Given the description of an element on the screen output the (x, y) to click on. 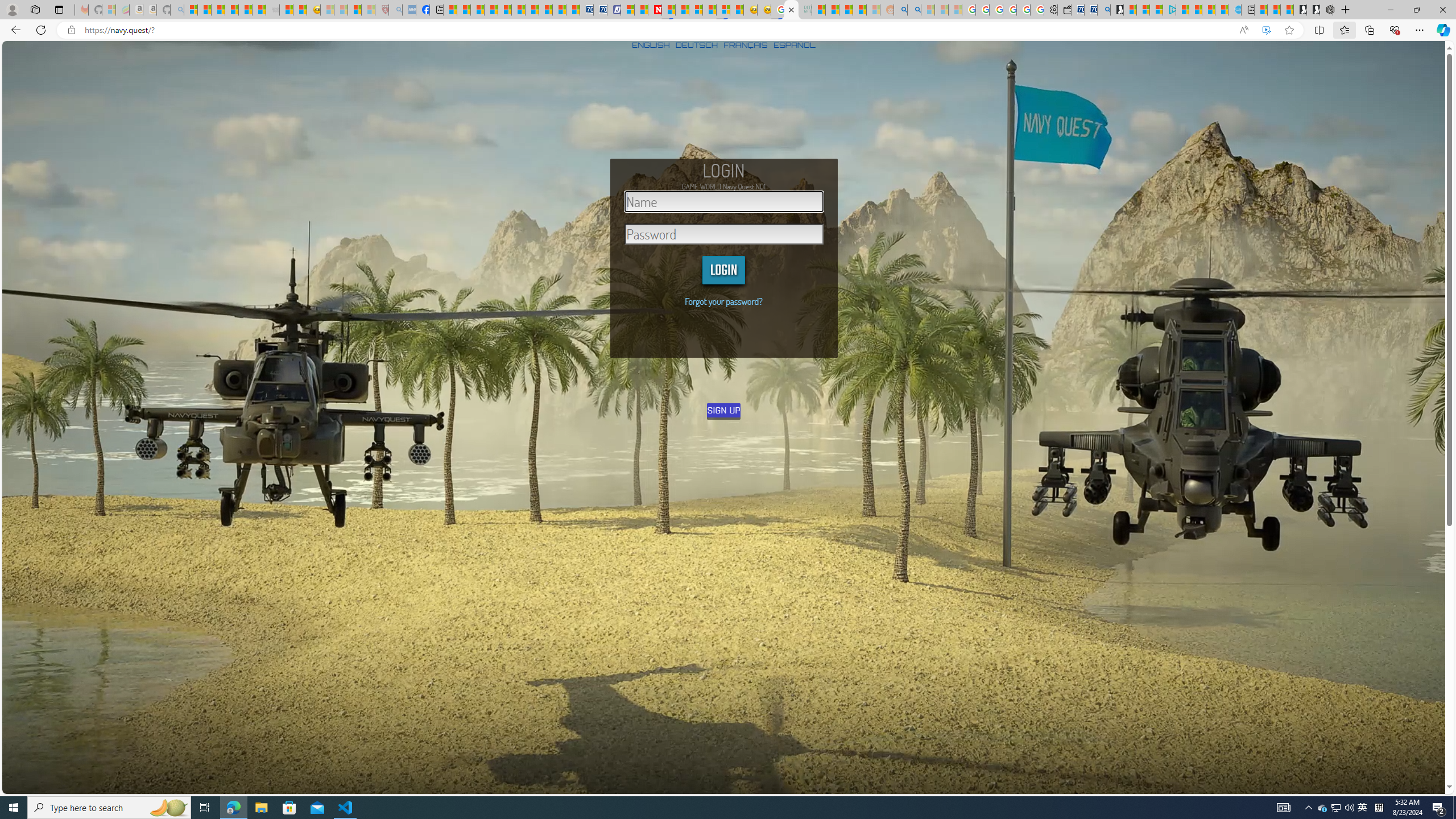
Utah sues federal government - Search (914, 9)
Cheap Car Rentals - Save70.com (1090, 9)
